Given the description of an element on the screen output the (x, y) to click on. 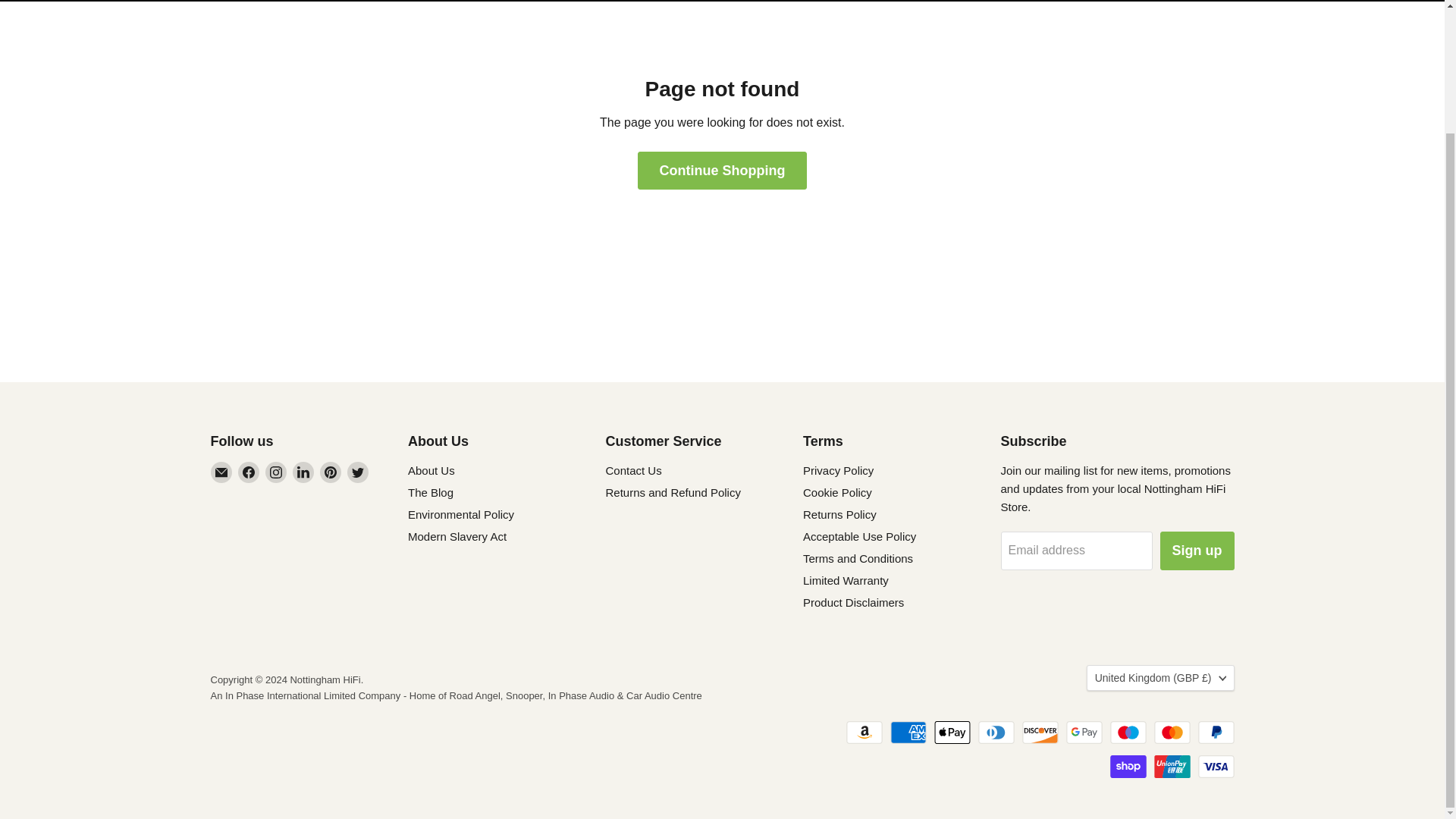
Pinterest (330, 472)
Apple Pay (952, 732)
Facebook (248, 472)
American Express (907, 732)
LinkedIn (303, 472)
Twitter (357, 472)
Discover (1040, 732)
Instagram (275, 472)
Amazon (863, 732)
Email (221, 472)
Diners Club (996, 732)
